Given the description of an element on the screen output the (x, y) to click on. 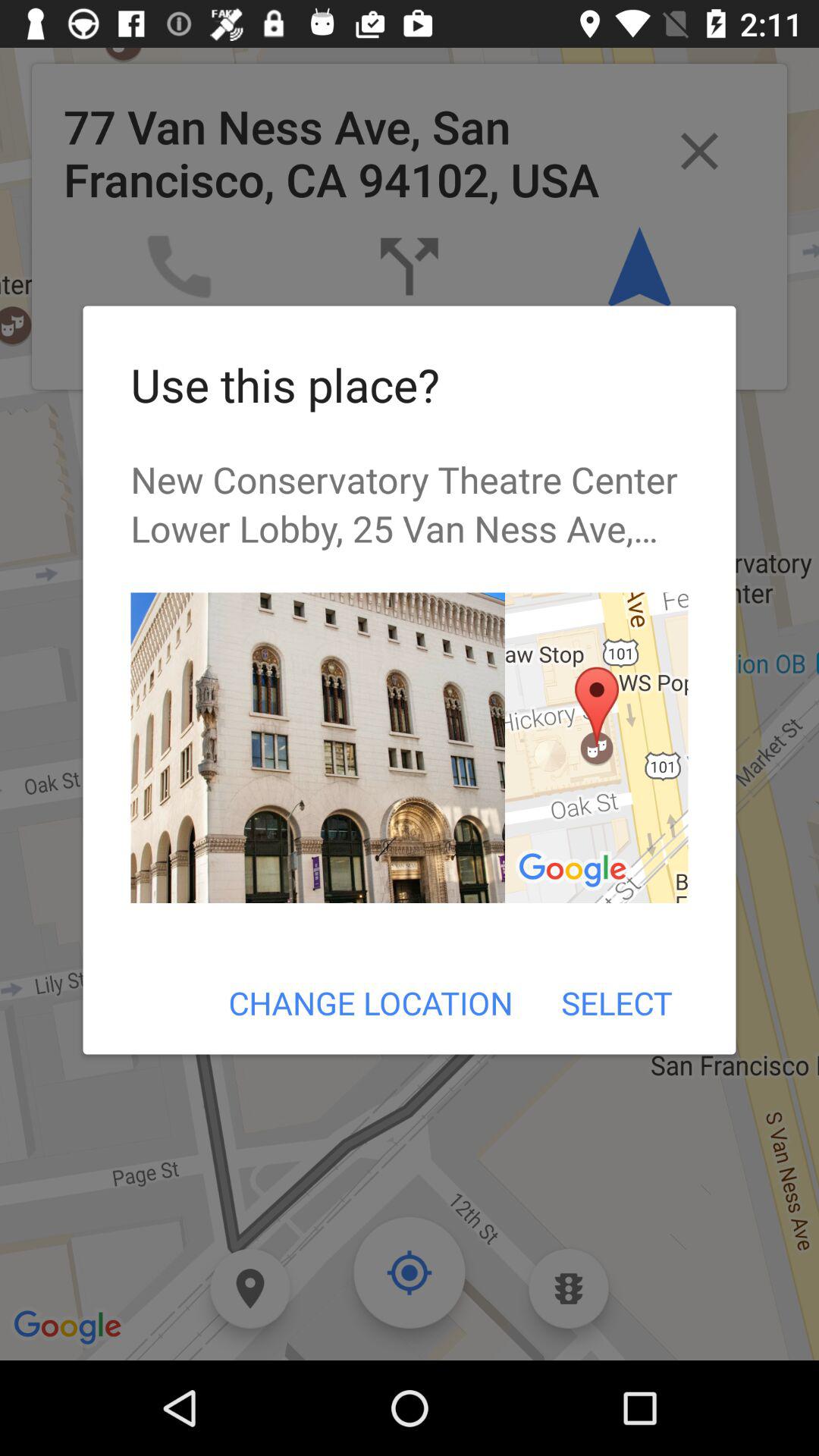
click the icon next to the change location item (616, 1002)
